Given the description of an element on the screen output the (x, y) to click on. 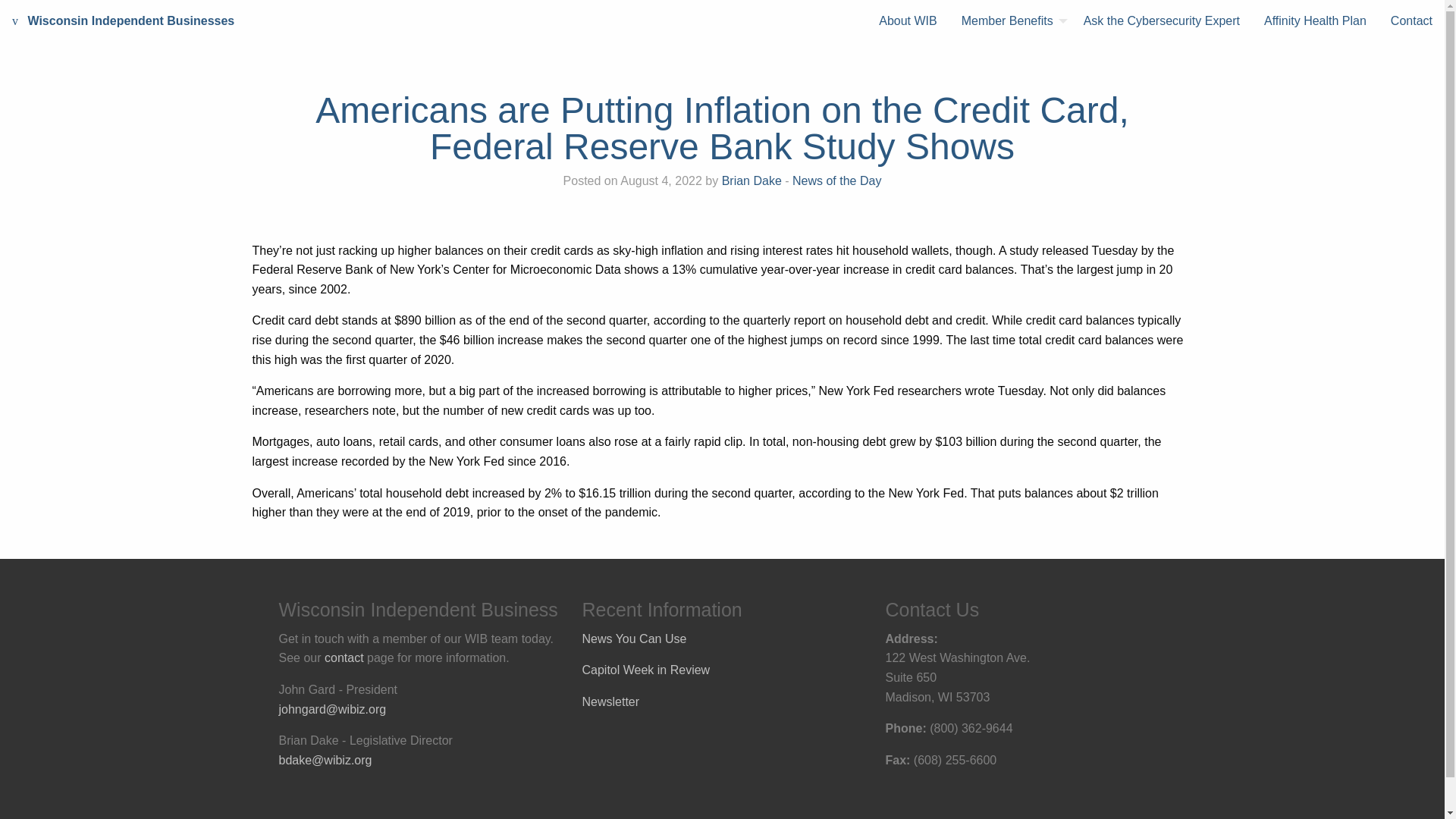
Newsletter (611, 701)
Brian Dake (751, 180)
Affinity Health Plan (1315, 21)
News You Can Use (634, 638)
Capitol Week in Review (646, 669)
wisconsin Wisconsin Independent Businesses (123, 21)
News of the Day (836, 180)
Ask the Cybersecurity Expert (1161, 21)
contact (344, 657)
About WIB (907, 21)
Member Benefits (1010, 21)
Posts by Brian Dake (751, 180)
